Given the description of an element on the screen output the (x, y) to click on. 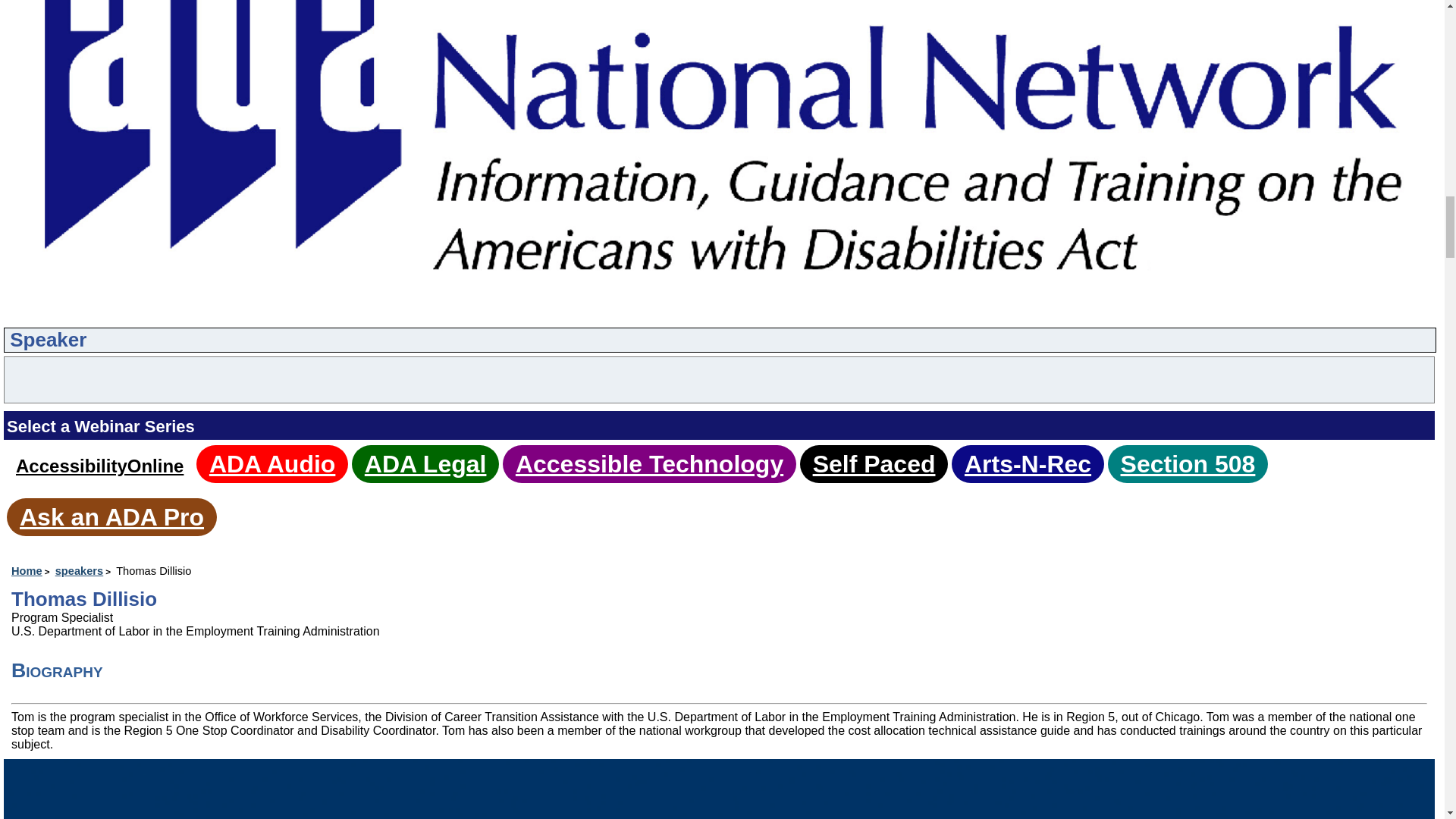
Section 508 (1188, 463)
ADA Audio (271, 463)
Ask an ADA Pro (111, 516)
ADA Legal (425, 463)
speakers (84, 571)
Self Paced (874, 463)
Home (31, 571)
AccessibilityOnline (99, 465)
Accessible Technology (649, 463)
